Given the description of an element on the screen output the (x, y) to click on. 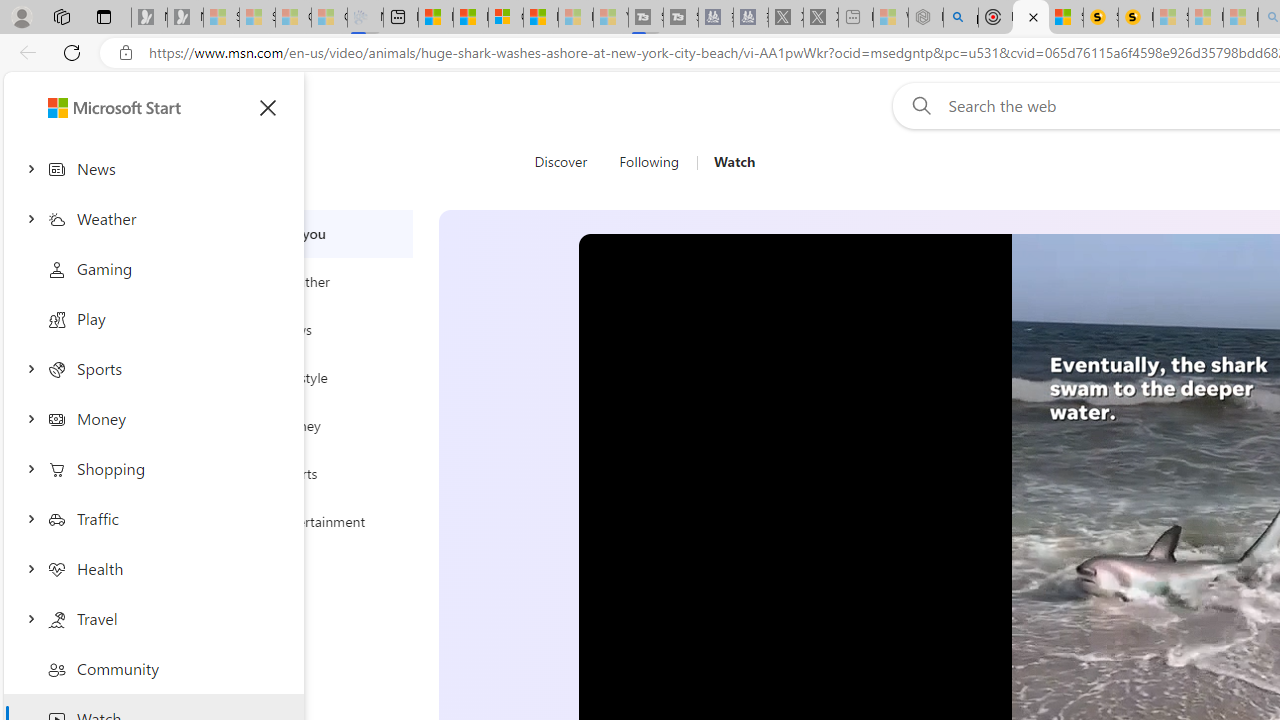
Overview (506, 17)
Web search (917, 105)
Discover (568, 162)
Michelle Starr, Senior Journalist at ScienceAlert (1135, 17)
Close menu (268, 107)
Class: button-glyph (267, 107)
Watch (734, 162)
